Given the description of an element on the screen output the (x, y) to click on. 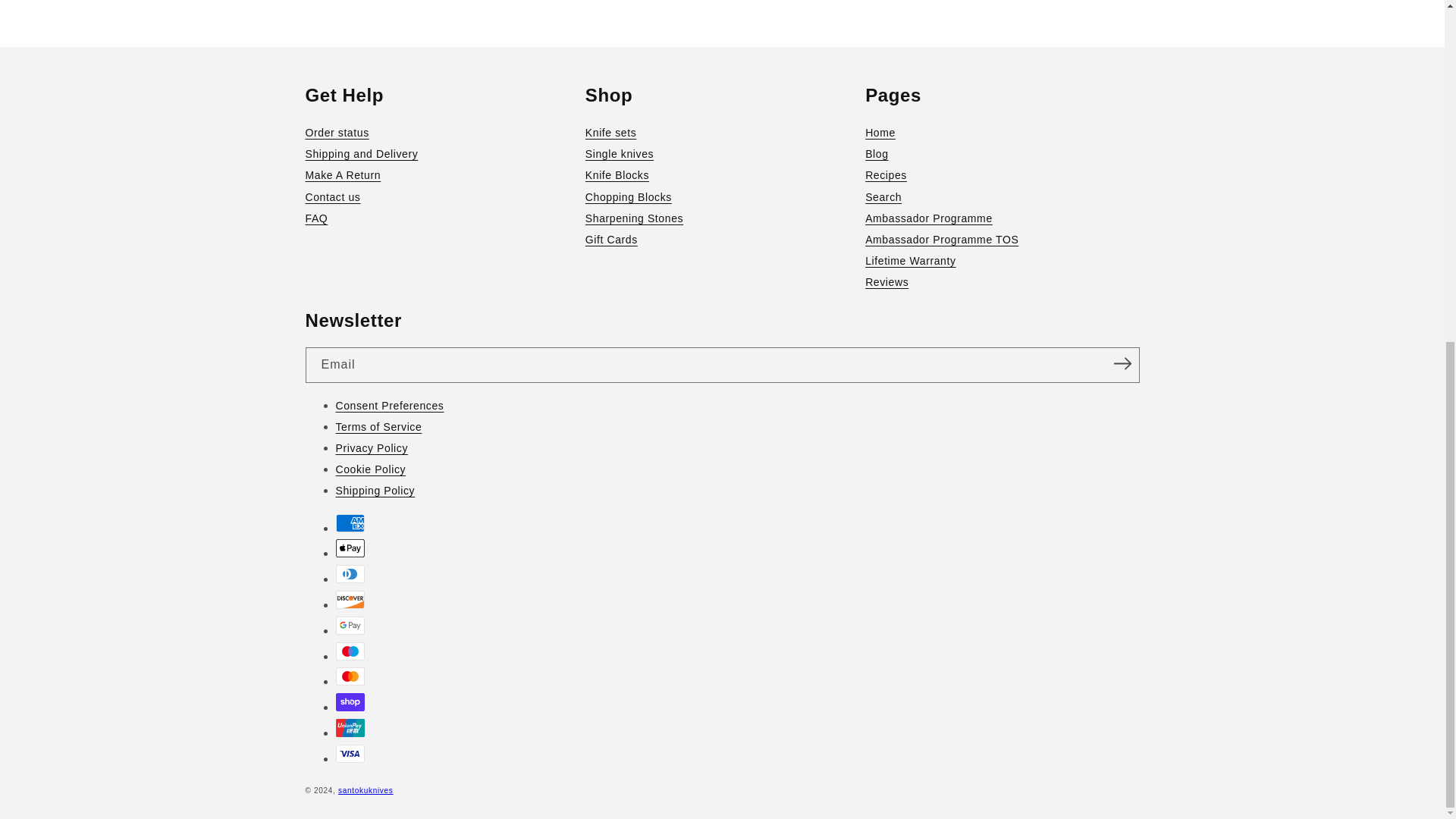
Home (1001, 132)
Knife Blocks (722, 174)
Blog (1001, 153)
Knife sets (722, 132)
Gift Cards (722, 239)
Union Pay (349, 728)
Shipping and Delivery (441, 153)
Ambassador Programme (1001, 218)
Make A Return (441, 174)
Discover (349, 599)
Maestro (349, 651)
Order status (441, 132)
Chopping Blocks (722, 197)
Mastercard (349, 676)
Reviews (1001, 281)
